Given the description of an element on the screen output the (x, y) to click on. 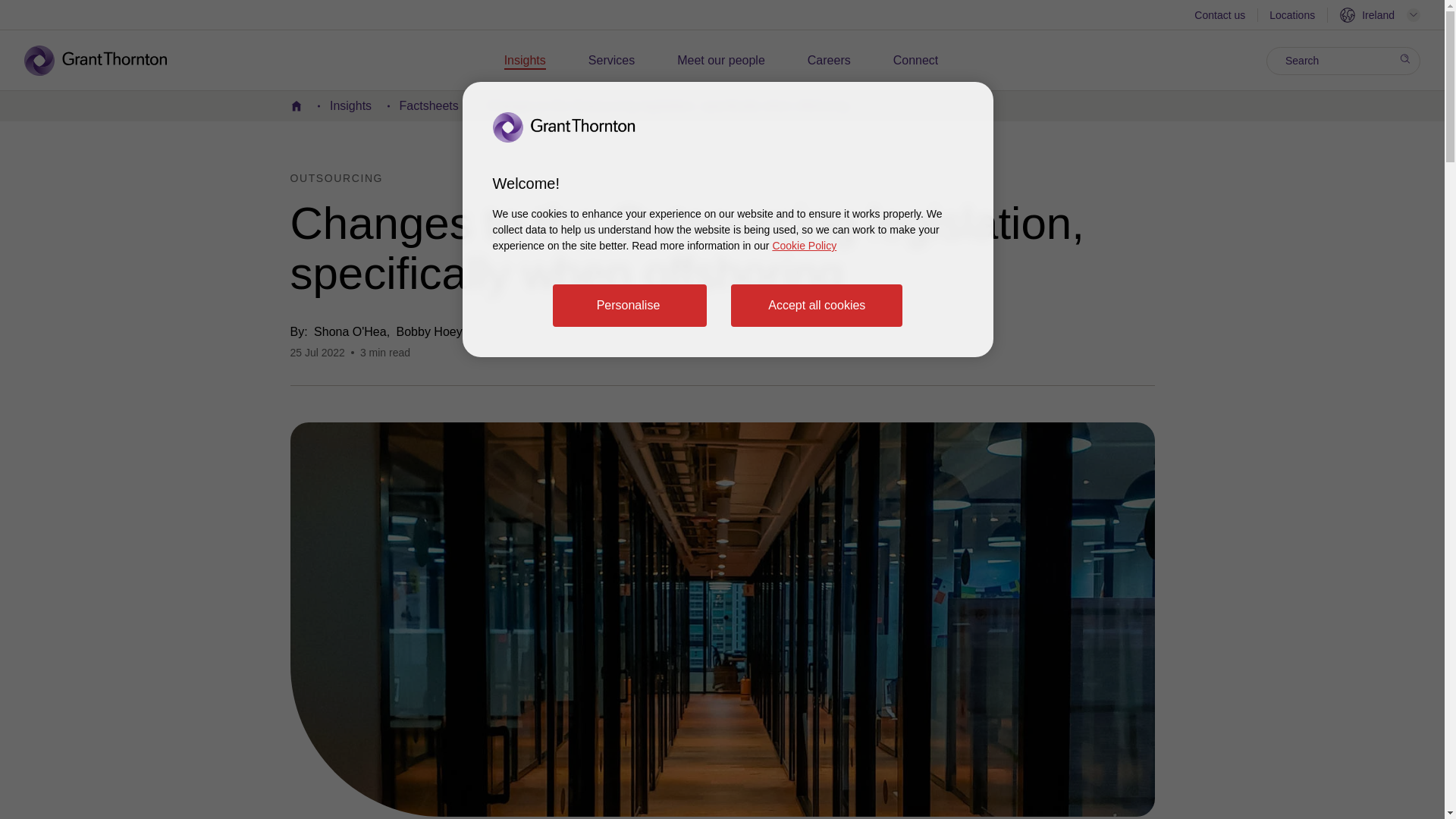
Contact us (1218, 17)
Connect (916, 60)
Explore the Grant Thornton network (1380, 14)
Insights (524, 60)
Contact us (1218, 17)
Services (611, 60)
Locations (1291, 17)
Careers (829, 60)
Ireland (1380, 14)
logo (105, 60)
